Given the description of an element on the screen output the (x, y) to click on. 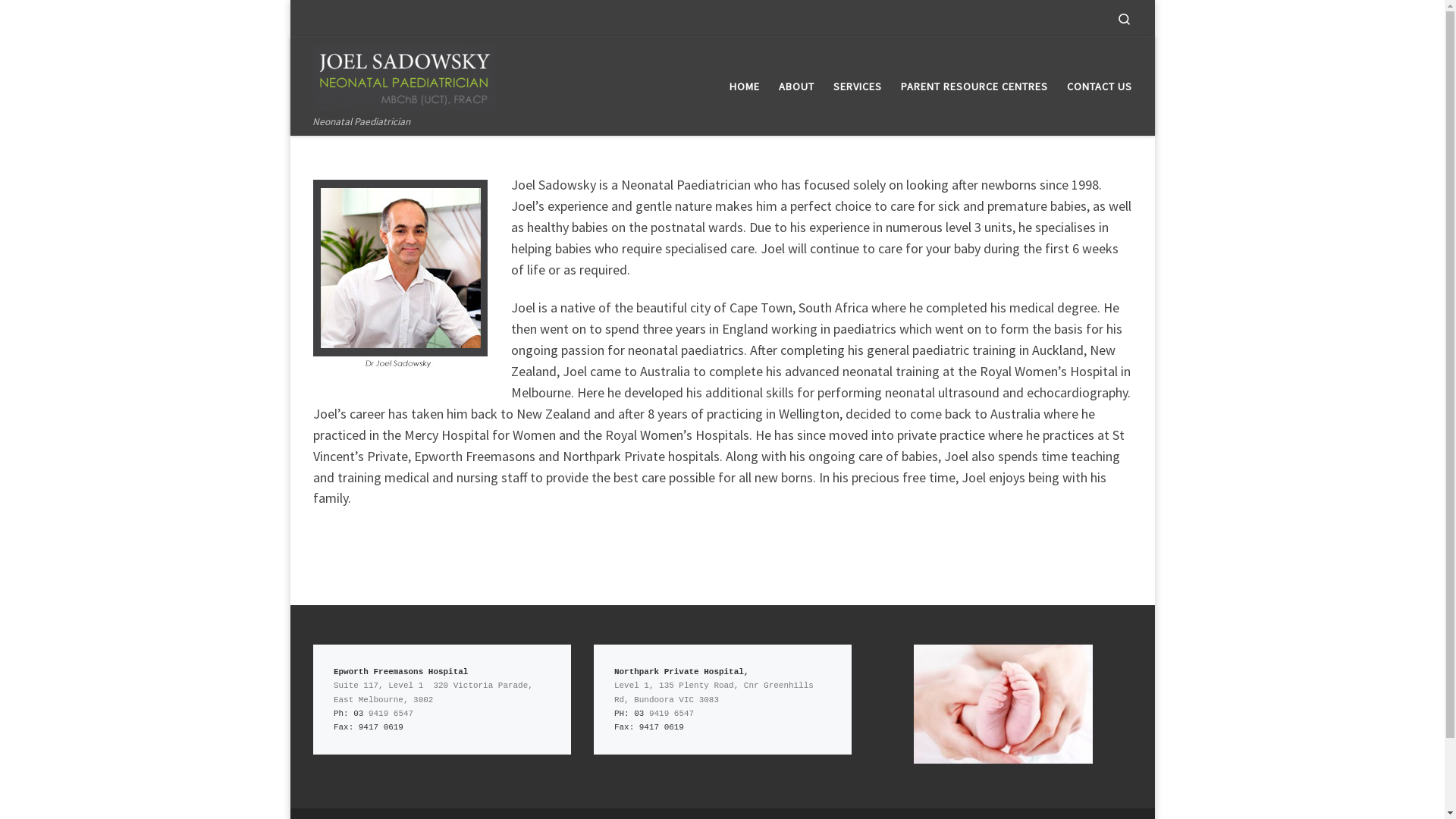
PARENT RESOURCE CENTRES Element type: text (973, 86)
SERVICES Element type: text (857, 86)
HOME Element type: text (744, 86)
9419 6547 Element type: text (390, 713)
CONTACT US Element type: text (1098, 86)
Skip to content Element type: text (57, 21)
Search Element type: text (1123, 18)
ABOUT Element type: text (796, 86)
9419 6547 Element type: text (671, 713)
